Given the description of an element on the screen output the (x, y) to click on. 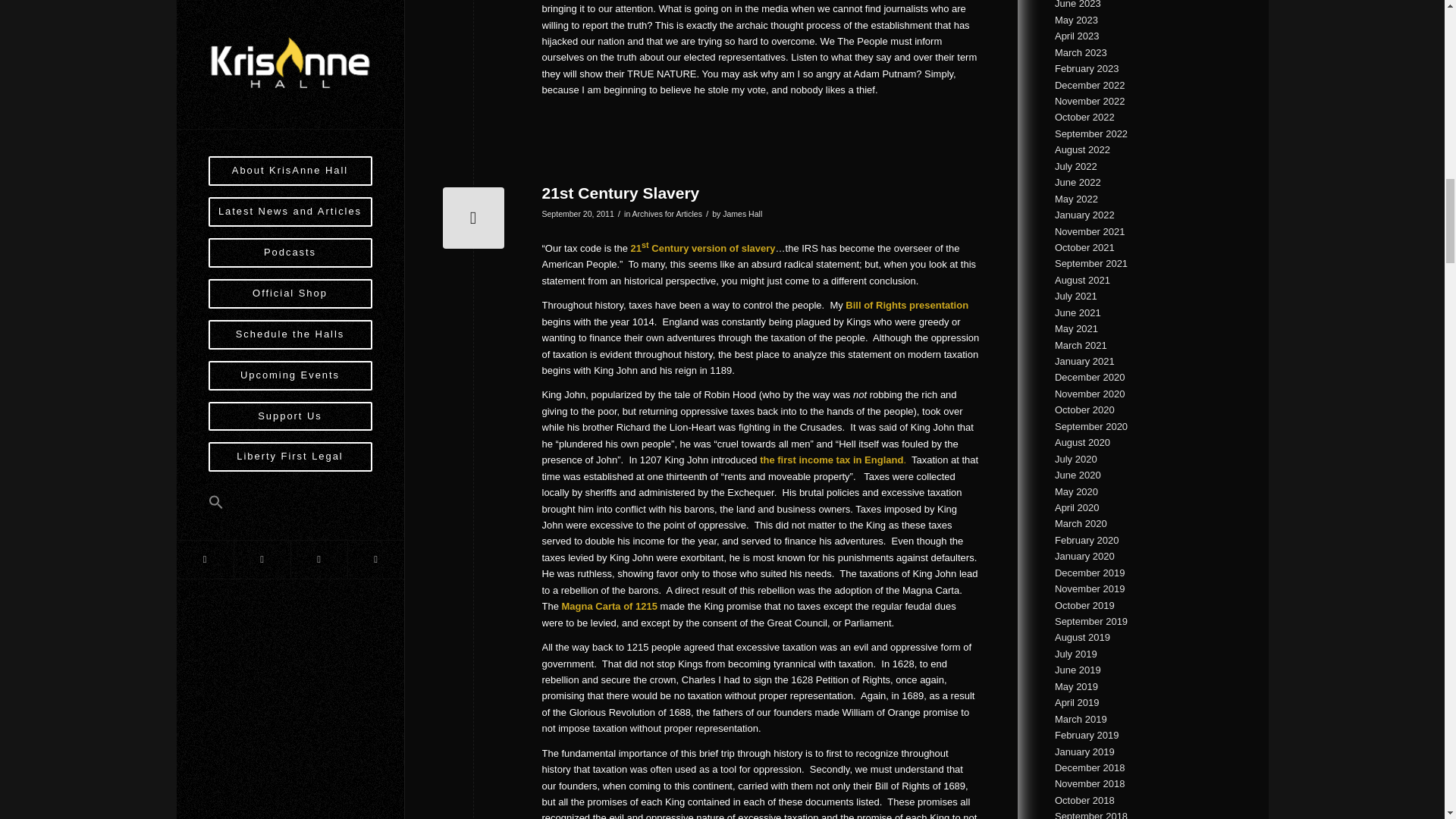
Permanent Link: 21st Century Slavery (619, 192)
Magna Carta of 1215 (610, 605)
Posts by James Hall (741, 213)
the first income tax in England. (832, 460)
Subscription Levels? (472, 217)
21st Century Slavery (619, 192)
Archives for Articles (666, 213)
James Hall (741, 213)
